Given the description of an element on the screen output the (x, y) to click on. 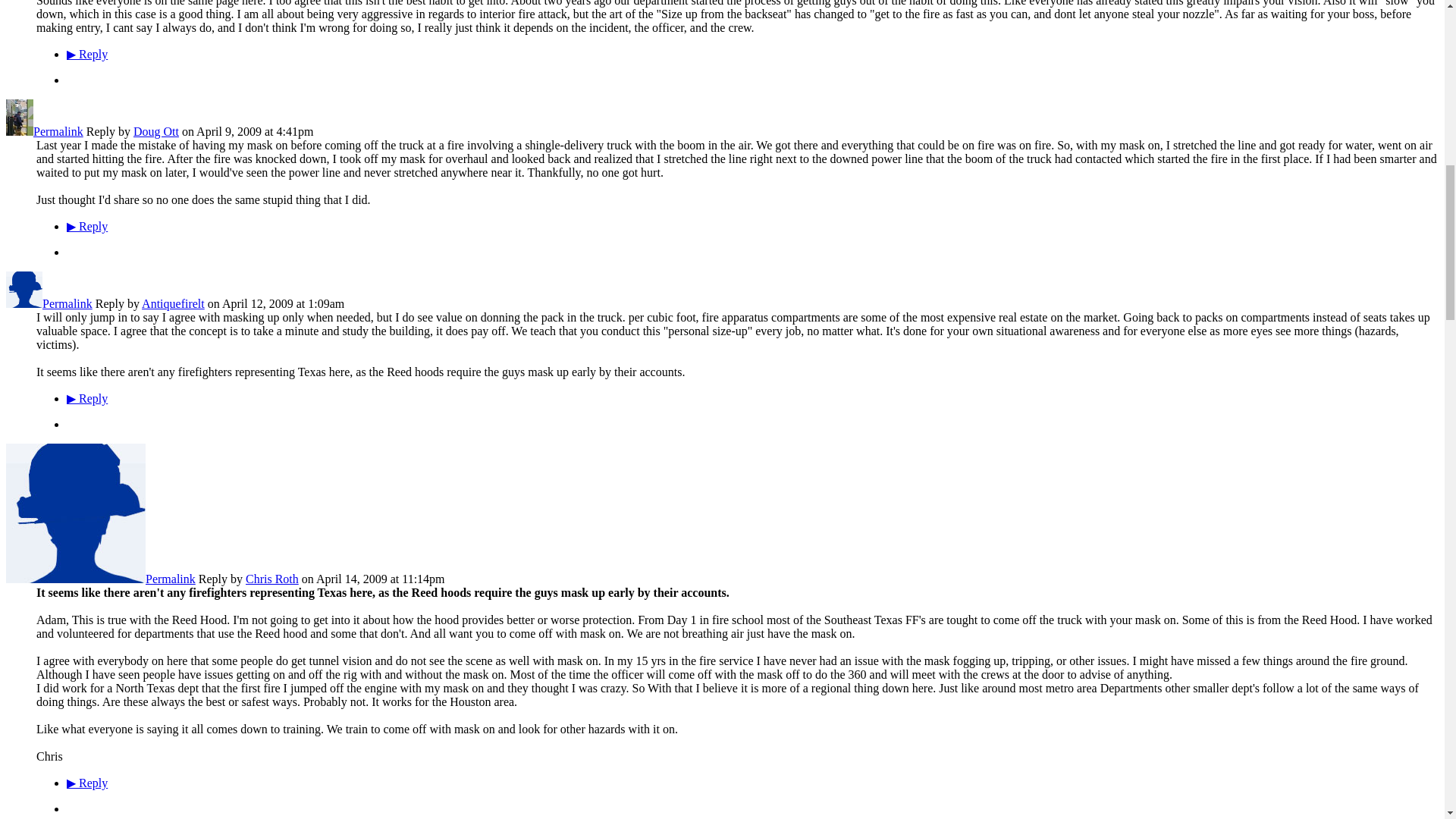
Doug Ott (19, 131)
Permalink to this Reply (67, 303)
Permalink to this Reply (170, 578)
Permalink to this Reply (57, 131)
Chris Roth (75, 578)
